Given the description of an element on the screen output the (x, y) to click on. 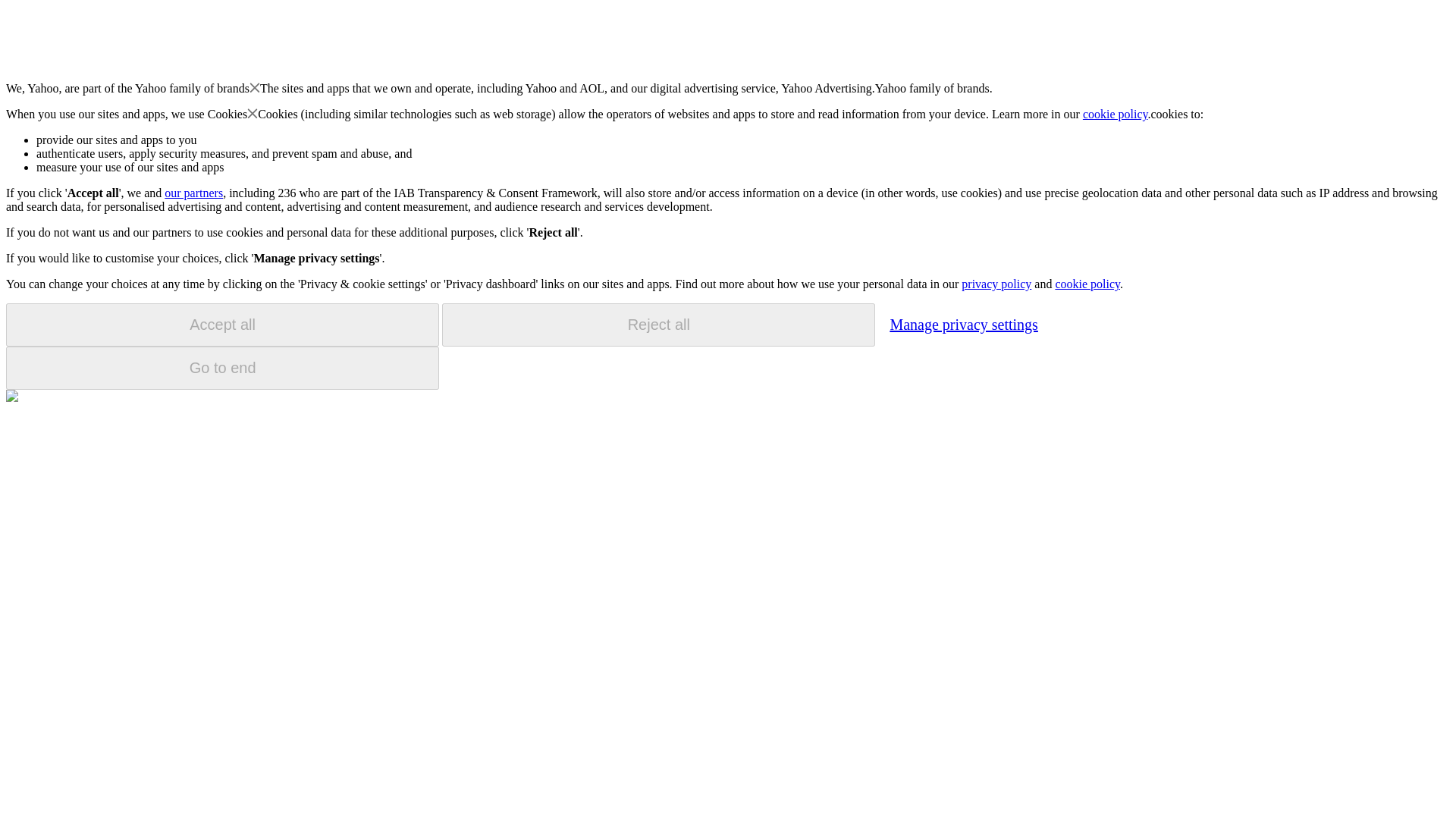
cookie policy (1086, 283)
Accept all (222, 324)
Manage privacy settings (963, 323)
our partners (193, 192)
privacy policy (995, 283)
Reject all (658, 324)
cookie policy (1115, 113)
Go to end (222, 367)
